Given the description of an element on the screen output the (x, y) to click on. 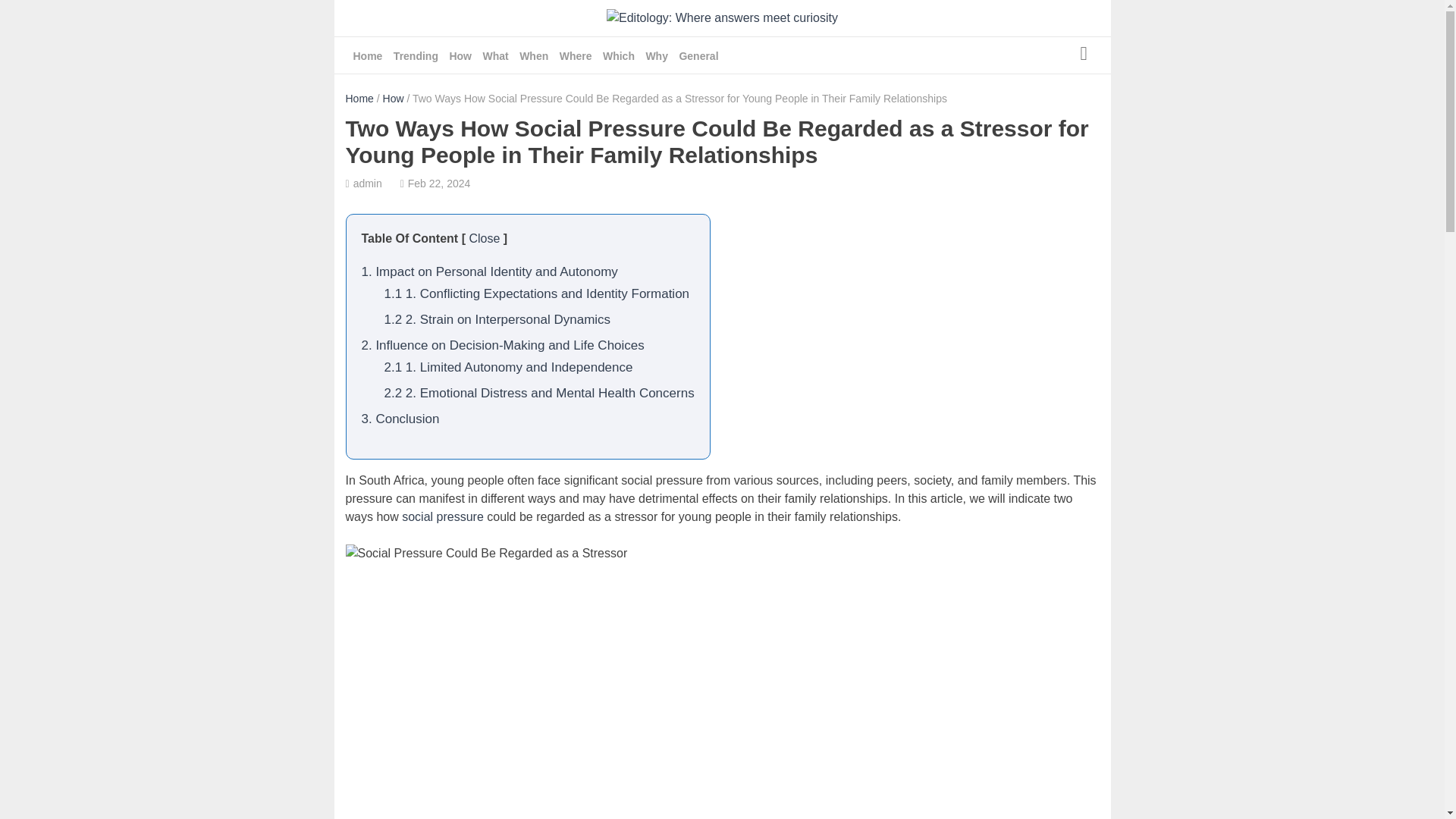
1. Impact on Personal Identity and Autonomy (489, 271)
Home (360, 98)
Trending (415, 55)
3. Conclusion (400, 418)
Close (483, 237)
1.1 1. Conflicting Expectations and Identity Formation (536, 293)
How (393, 98)
2.2 2. Emotional Distress and Mental Health Concerns (539, 392)
social pressure (442, 516)
2. Influence on Decision-Making and Life Choices (502, 345)
1.2 2. Strain on Interpersonal Dynamics (497, 319)
2.1 1. Limited Autonomy and Independence (507, 367)
General (697, 55)
